Given the description of an element on the screen output the (x, y) to click on. 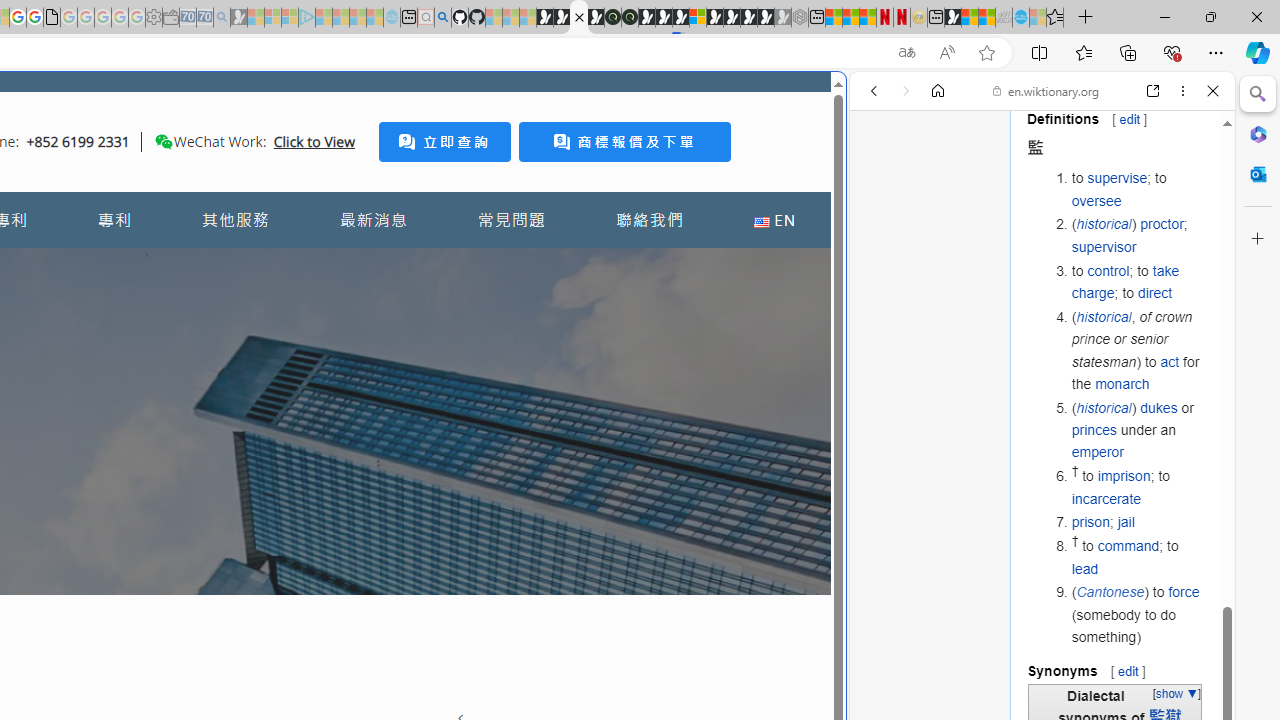
oversee (1096, 200)
Tabs you've opened (276, 265)
take charge (1125, 281)
supervise (1117, 178)
